Given the description of an element on the screen output the (x, y) to click on. 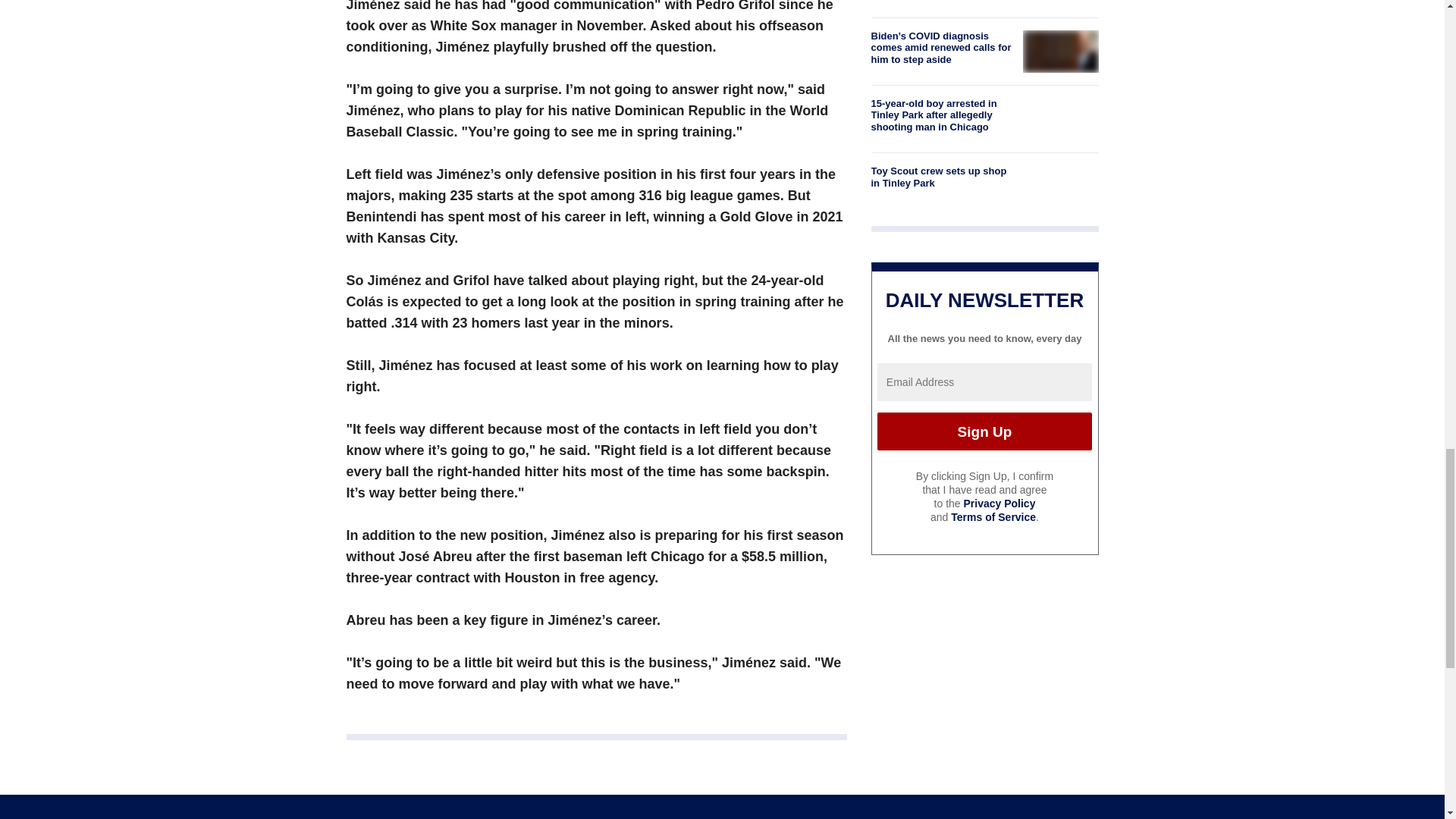
Sign Up (984, 431)
